Given the description of an element on the screen output the (x, y) to click on. 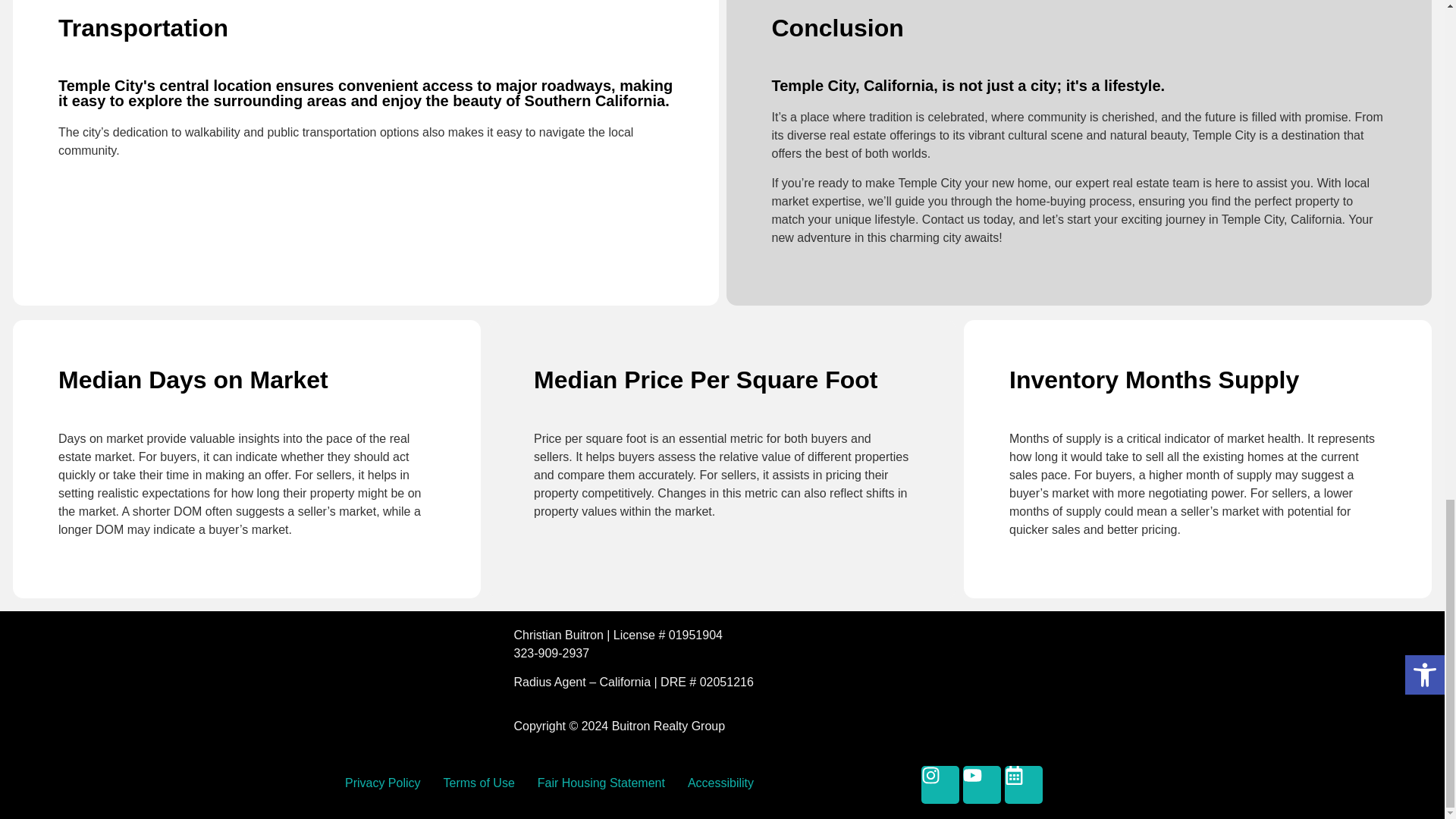
Fair Housing Statement (601, 782)
Privacy Policy (382, 782)
Accessibility (721, 782)
Terms of Use (478, 782)
